Given the description of an element on the screen output the (x, y) to click on. 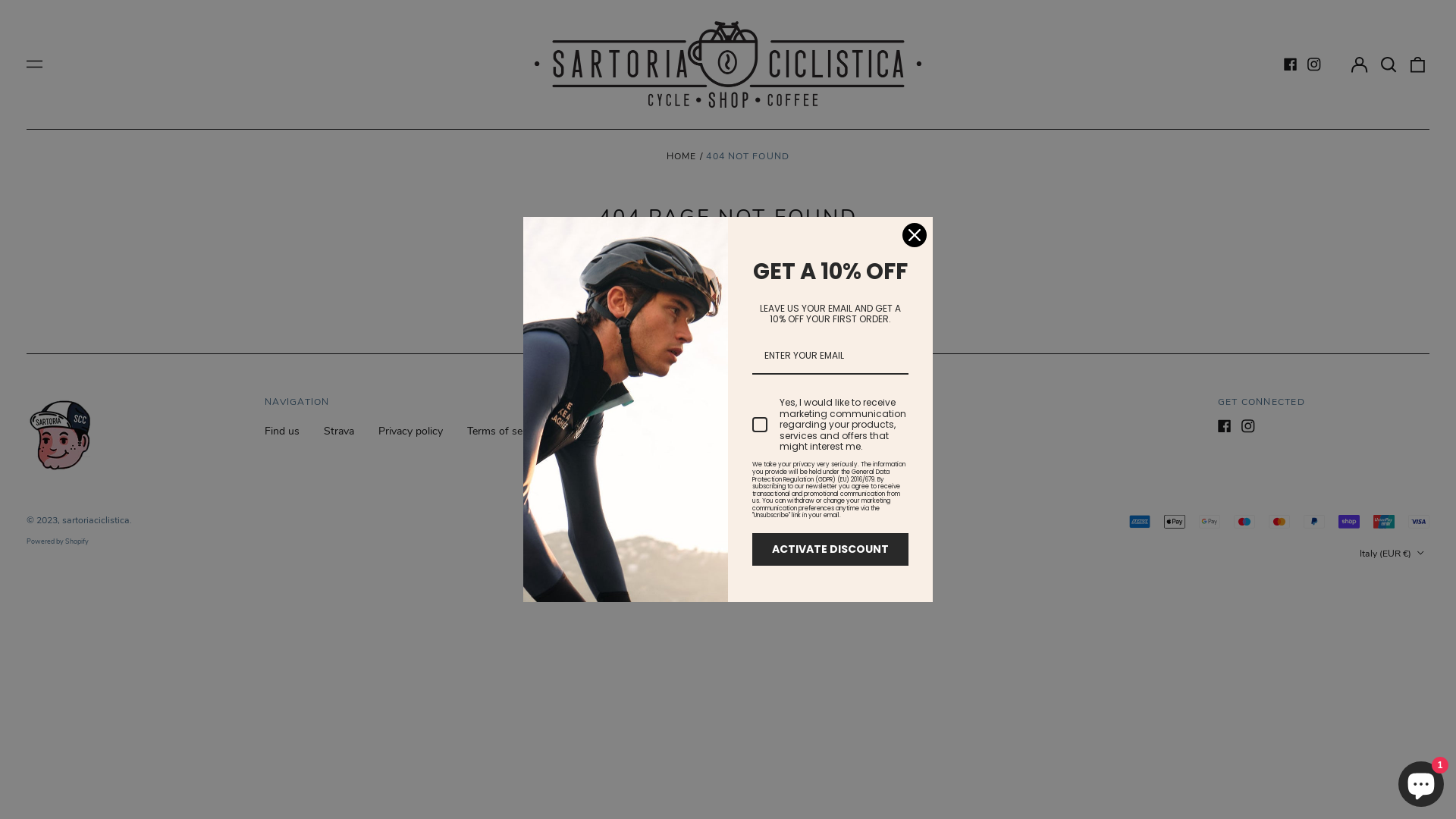
Search our site Element type: text (1388, 64)
HOME Element type: text (681, 156)
Strava Element type: text (338, 430)
BACK TO THE FRONTPAGE Element type: text (727, 291)
Shopify online store chat Element type: hover (1420, 780)
Privacy policy Element type: text (410, 430)
Facebook Element type: text (1224, 426)
Refund policy Element type: text (697, 430)
ACTIVATE DISCOUNT Element type: text (830, 549)
Facebook Element type: text (1289, 64)
Instagram Element type: text (1314, 64)
Instagram Element type: text (1248, 426)
Menu Element type: text (34, 64)
Log in Element type: text (1358, 64)
Shipping policy Element type: text (604, 430)
sartoriaciclistica Element type: text (95, 520)
Find us Element type: text (281, 430)
Powered by Shopify Element type: text (57, 541)
0 items Element type: text (1417, 64)
Terms of service Element type: text (505, 430)
